Given the description of an element on the screen output the (x, y) to click on. 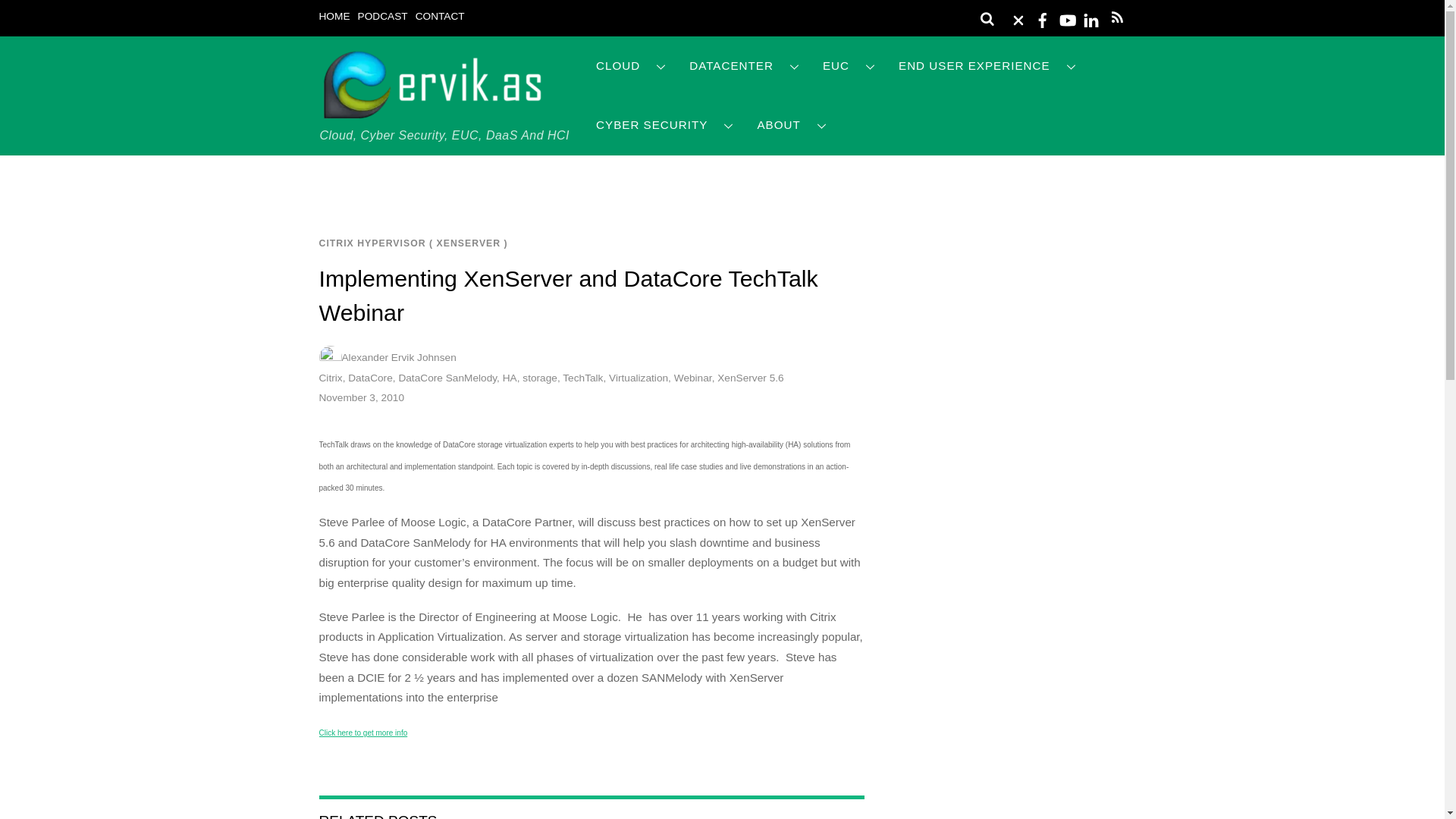
HOME (333, 16)
Ervik.as (432, 114)
CONTACT (439, 16)
PODCAST (382, 16)
DATACENTER (744, 66)
CLOUD (631, 66)
